Given the description of an element on the screen output the (x, y) to click on. 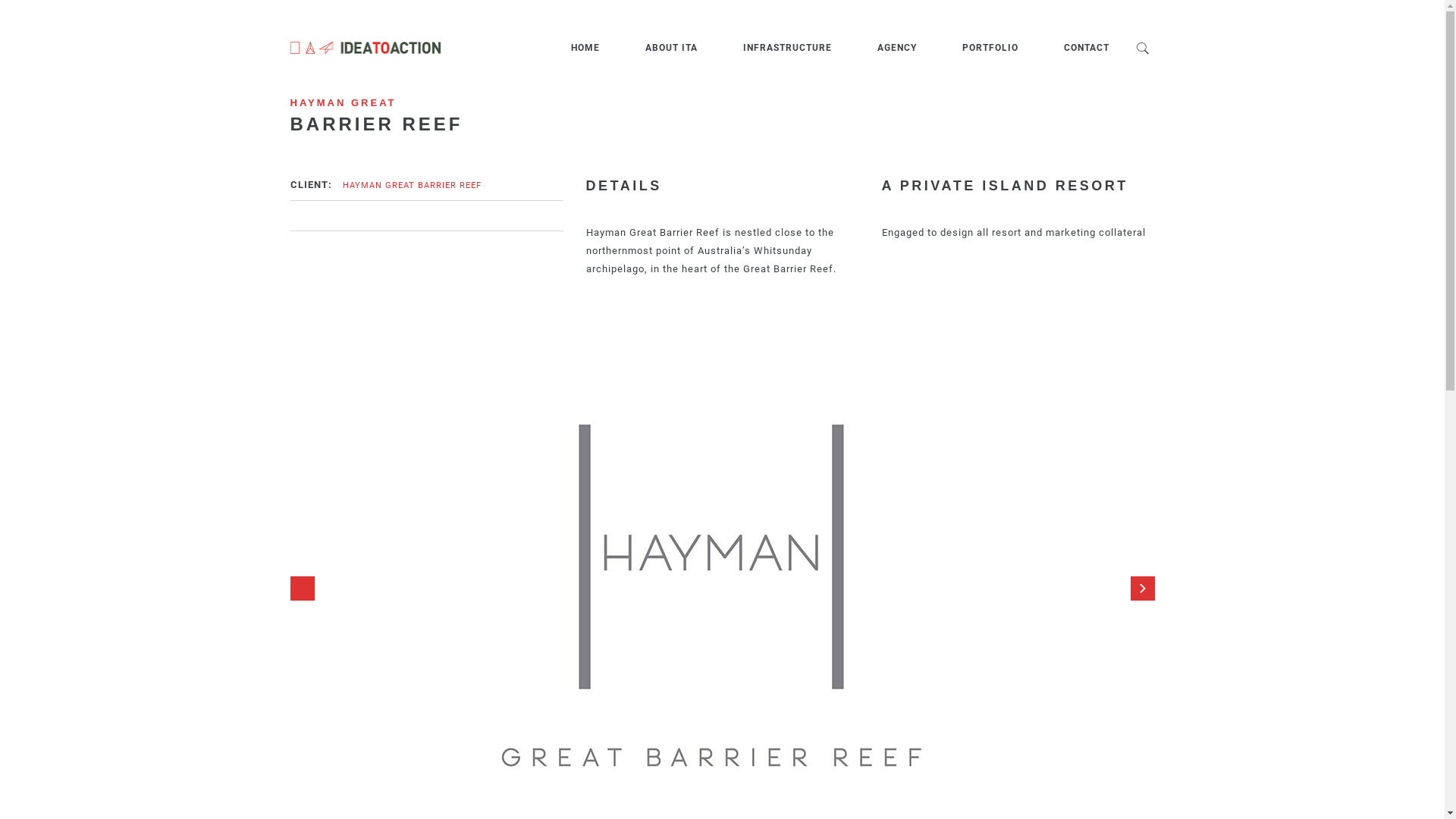
CONTACT Element type: text (1085, 47)
PORTFOLIO Element type: text (989, 47)
HOME Element type: text (584, 47)
Prev Element type: text (301, 588)
INFRASTRUCTURE Element type: text (787, 47)
AGENCY Element type: text (896, 47)
Next Element type: text (1141, 588)
ABOUT ITA Element type: text (670, 47)
